Given the description of an element on the screen output the (x, y) to click on. 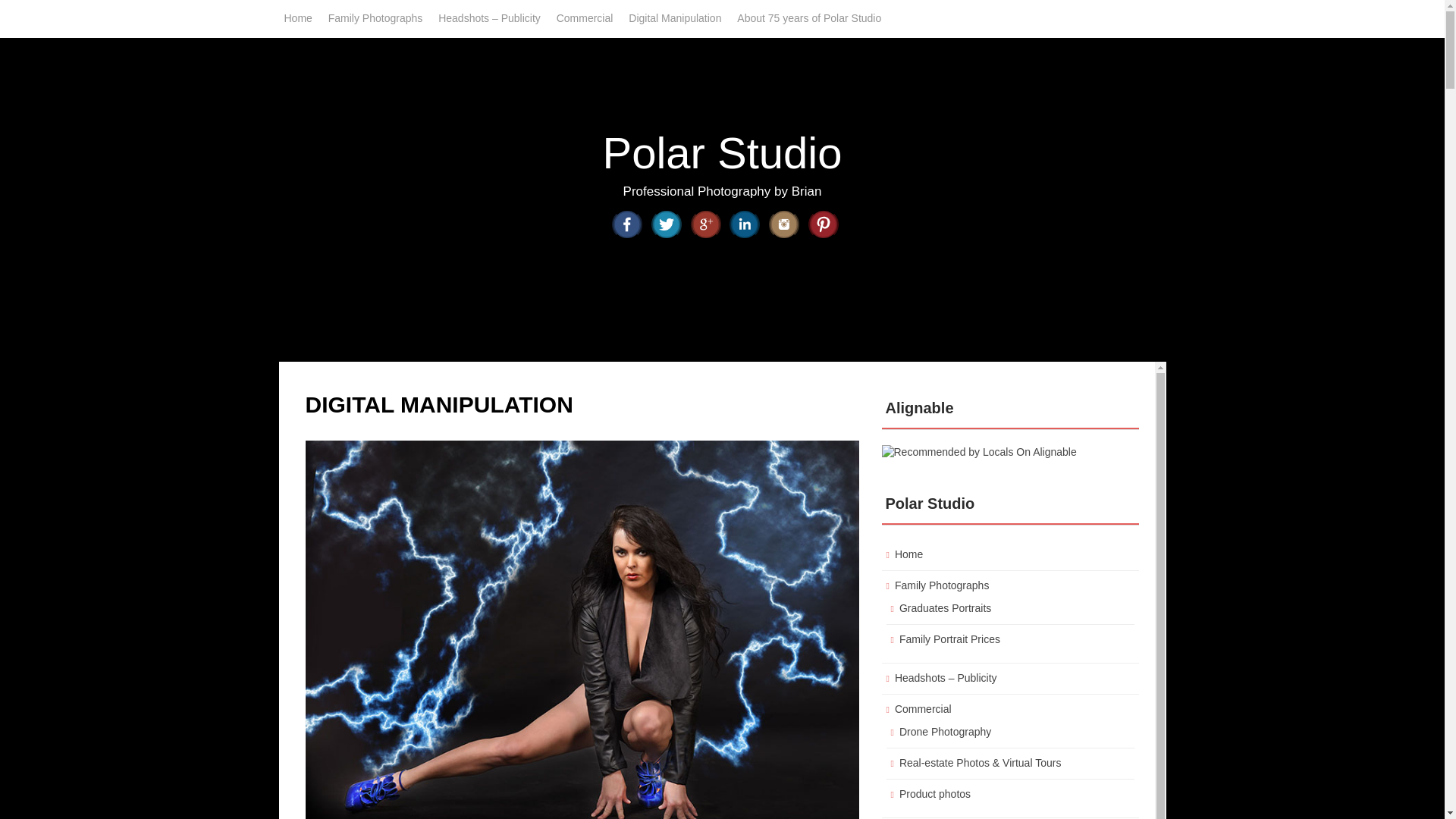
Family Photographs (375, 18)
Digital Manipulation (675, 18)
Polar Studio (721, 152)
About 75 years of Polar Studio (808, 18)
Commercial (584, 18)
Home (297, 18)
Polar Studio at a glance (808, 18)
Commercial Photography (584, 18)
